Given the description of an element on the screen output the (x, y) to click on. 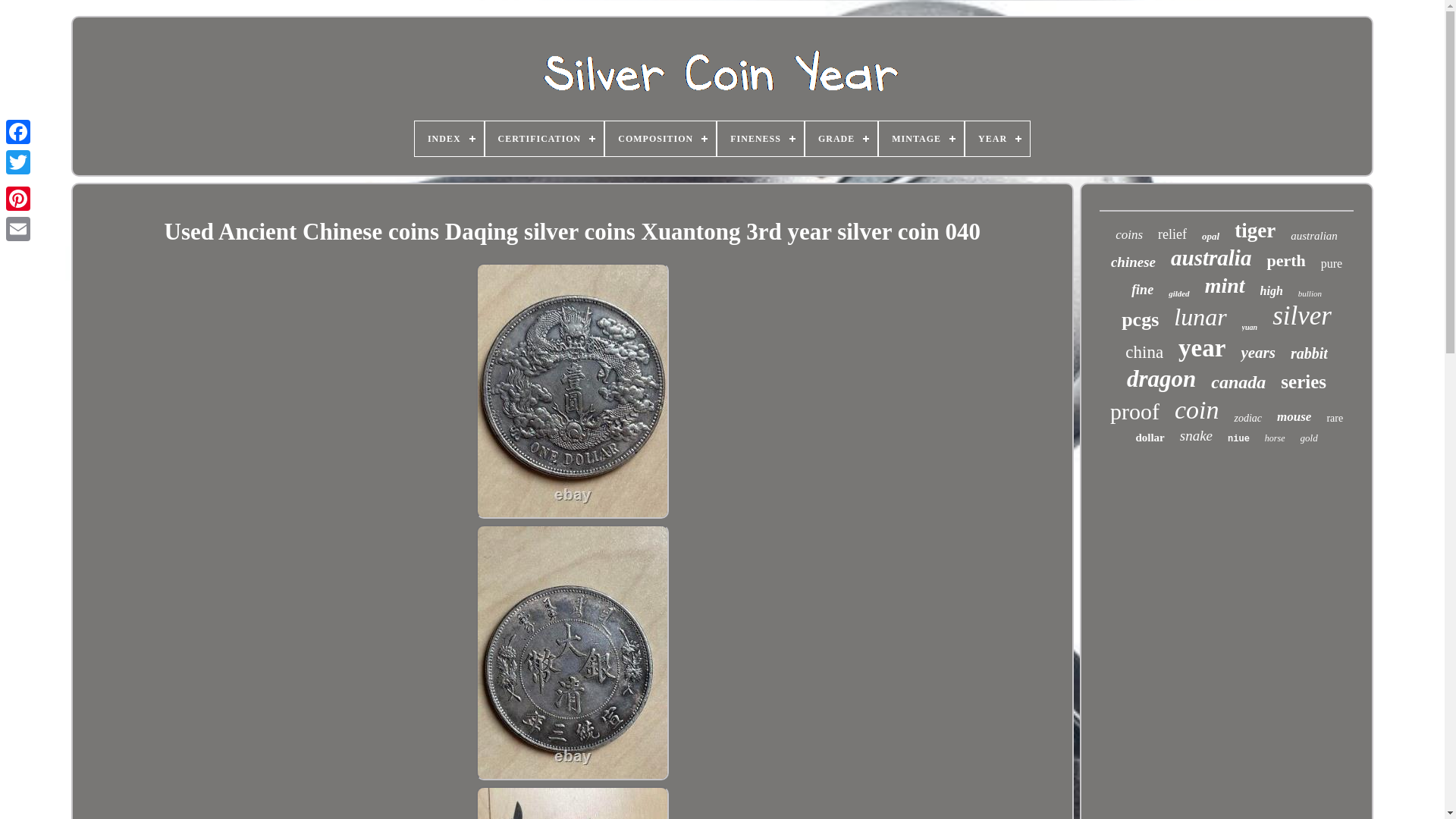
COMPOSITION (660, 138)
INDEX (448, 138)
CERTIFICATION (544, 138)
FINENESS (760, 138)
